Given the description of an element on the screen output the (x, y) to click on. 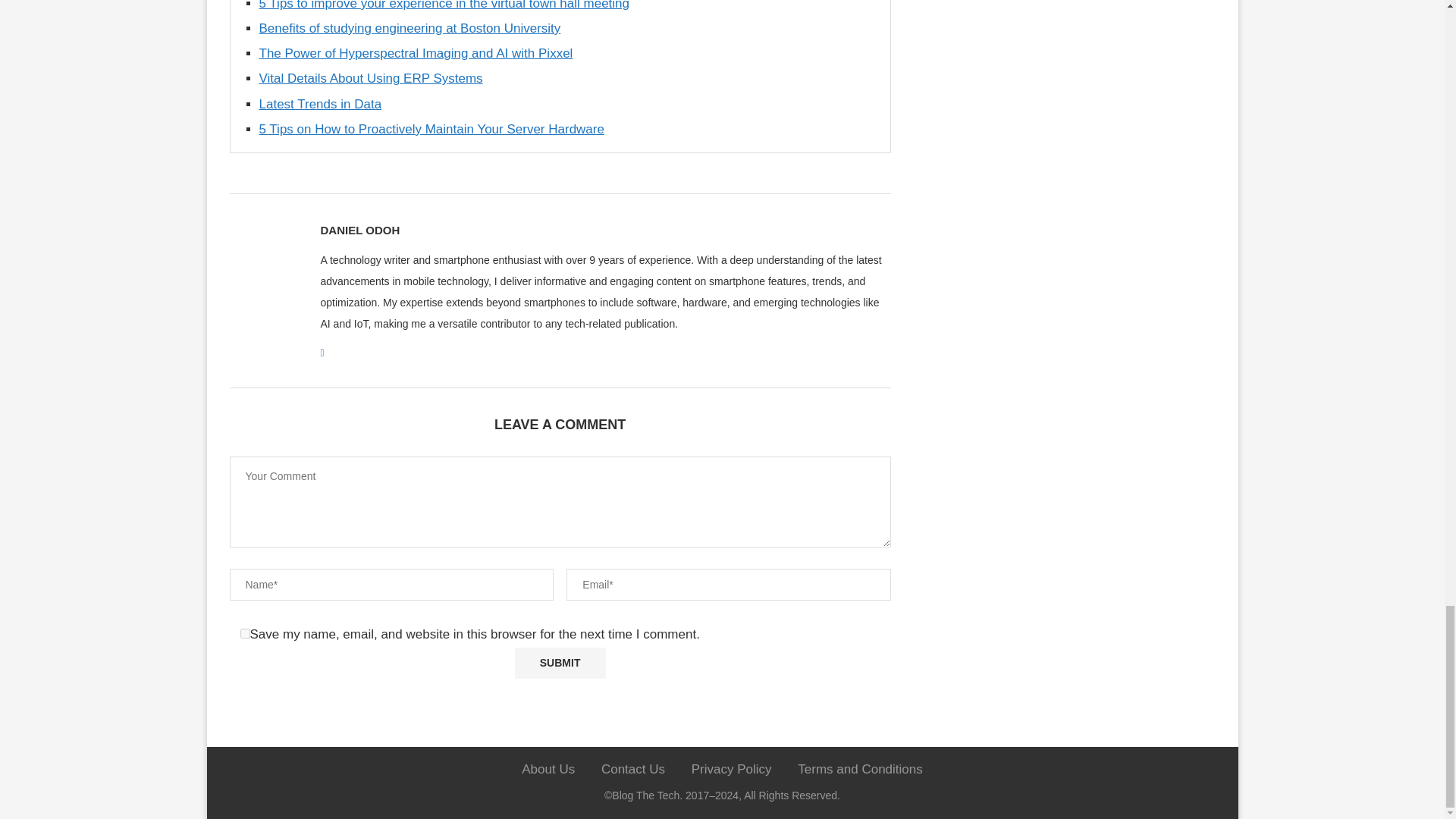
The Power of Hyperspectral Imaging and AI with Pixxel (416, 52)
5 Tips on How to Proactively Maintain Your Server Hardware (431, 129)
Submit (560, 662)
Author Daniel Odoh (359, 230)
Latest Trends in Data (320, 104)
DANIEL ODOH (359, 230)
yes (244, 633)
Submit (560, 662)
Benefits of studying engineering at Boston University (409, 28)
Vital Details About Using ERP Systems (371, 78)
